Given the description of an element on the screen output the (x, y) to click on. 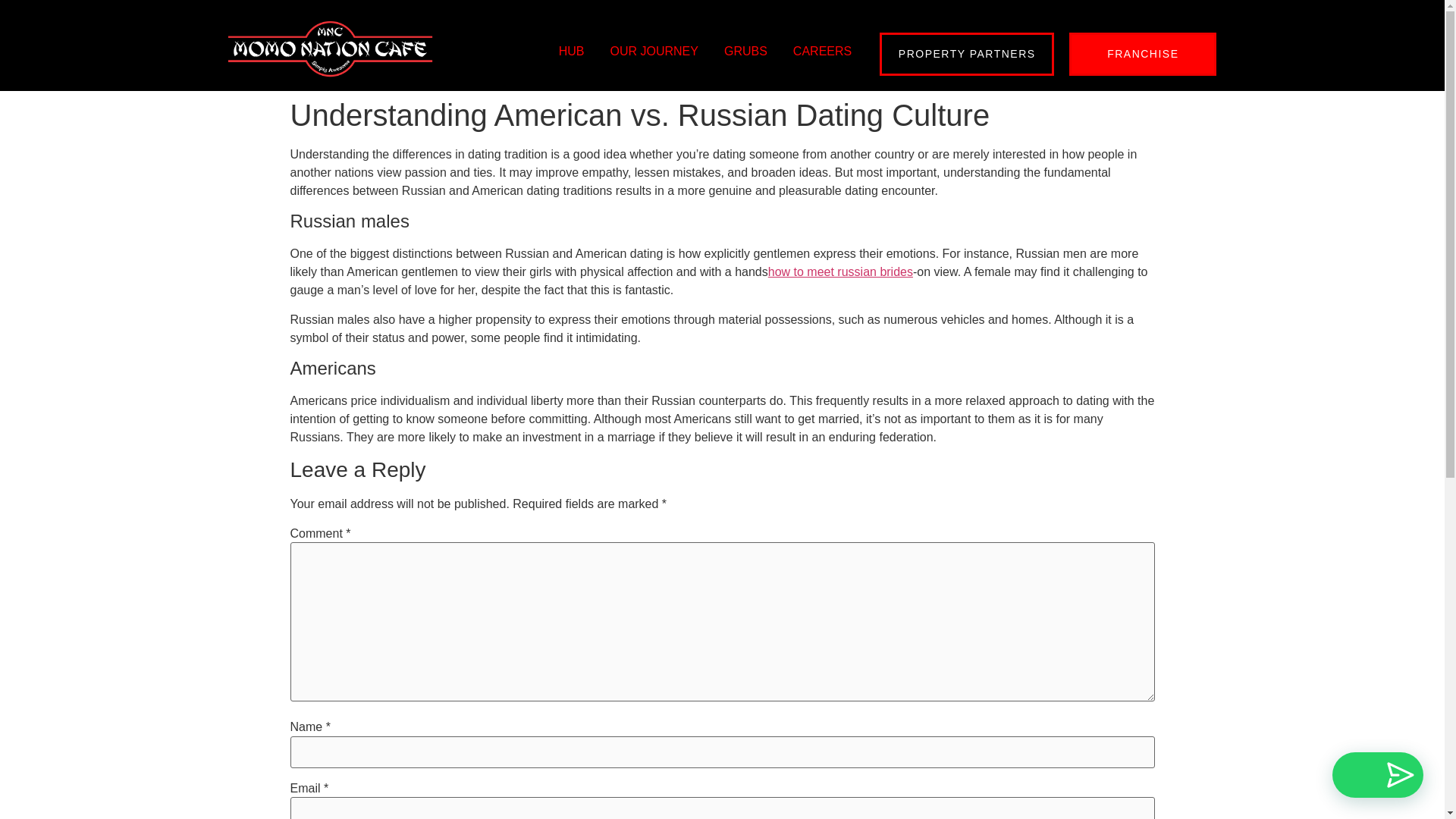
GRUBS (746, 52)
CAREERS (822, 52)
FRANCHISE (1141, 53)
OUR JOURNEY (654, 52)
how to meet russian brides (840, 271)
PROPERTY PARTNERS (966, 53)
